Given the description of an element on the screen output the (x, y) to click on. 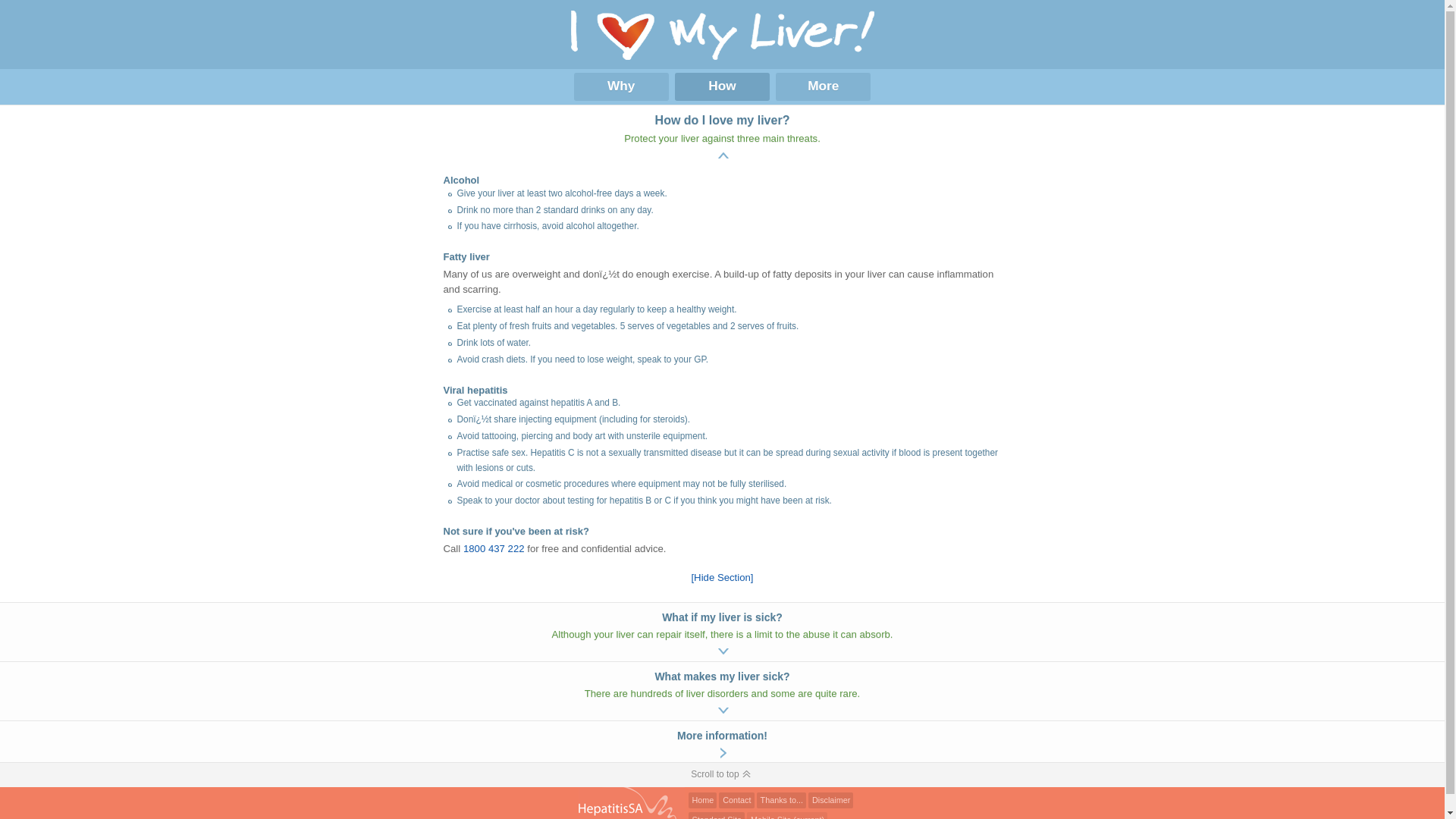
Why Element type: text (620, 86)
1800 437 222 Element type: text (493, 548)
Contact Element type: text (735, 800)
[Hide Section] Element type: text (721, 577)
Home Element type: text (702, 800)
How Element type: text (721, 86)
Thanks to... Element type: text (781, 800)
Scroll to top Element type: text (722, 774)
More Element type: text (822, 86)
Disclaimer Element type: text (830, 800)
More information! Element type: text (722, 741)
